Given the description of an element on the screen output the (x, y) to click on. 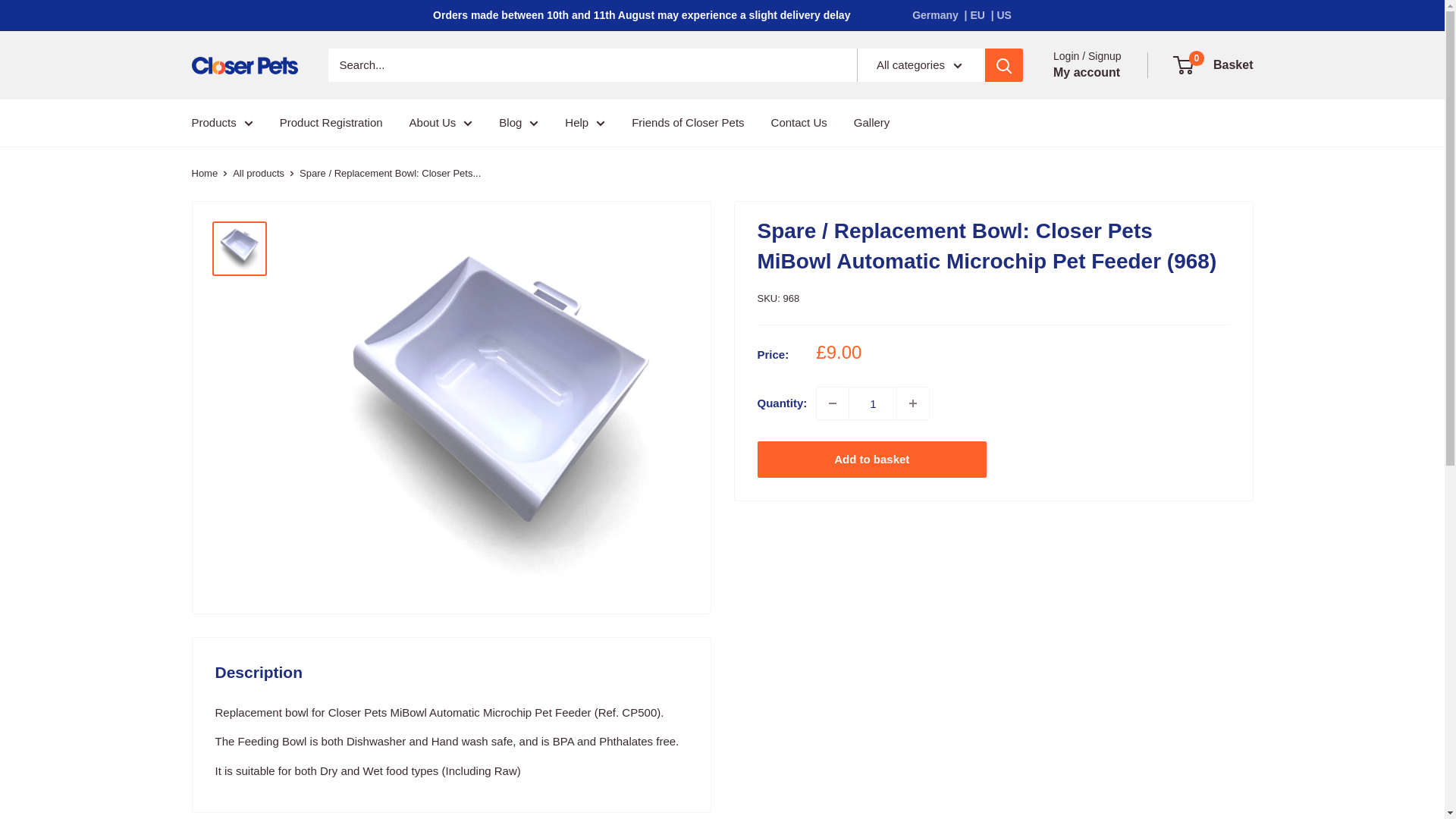
Decrease quantity by 1 (832, 403)
Increase quantity by 1 (912, 403)
1 (872, 403)
US (1002, 15)
